Given the description of an element on the screen output the (x, y) to click on. 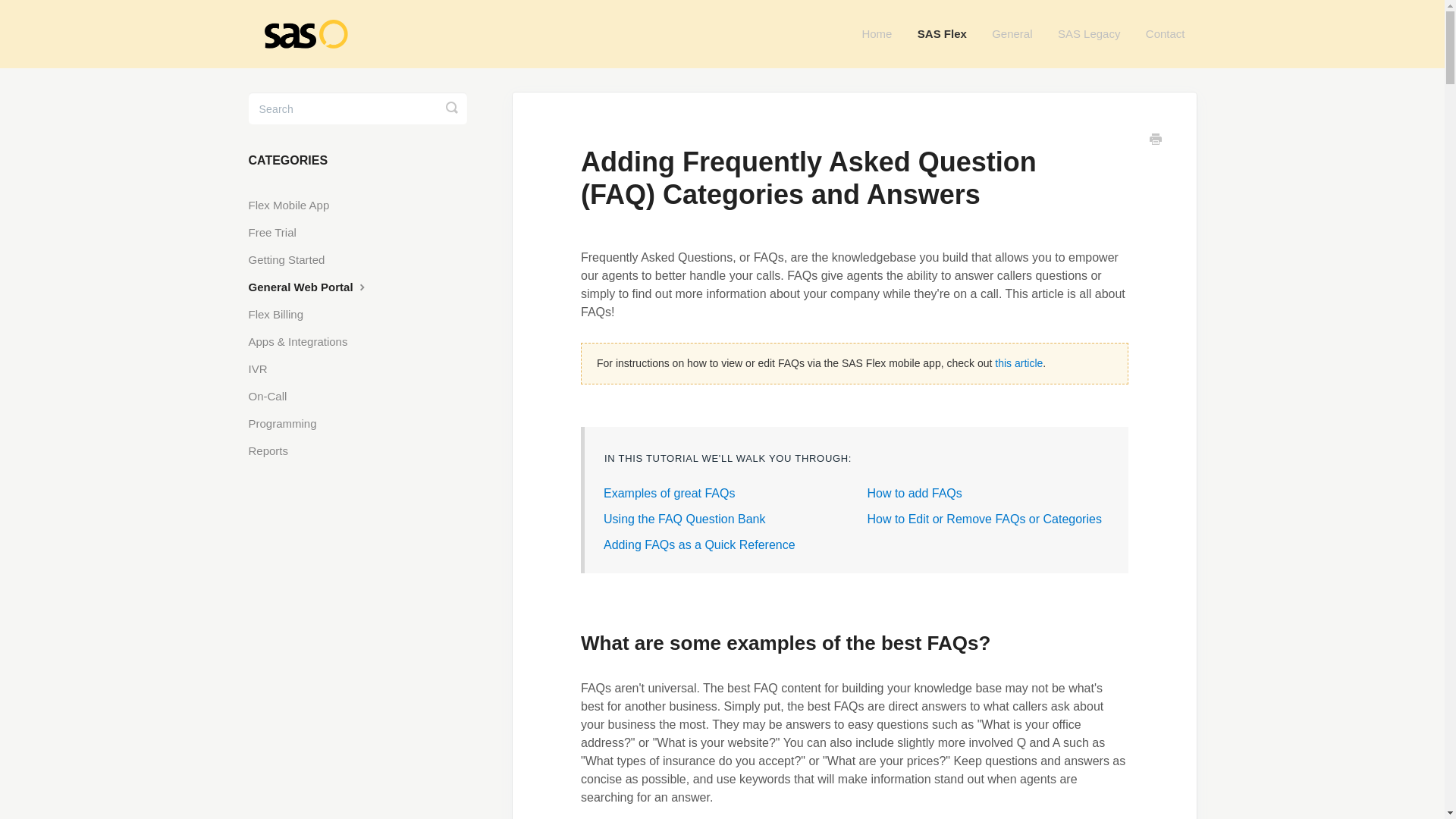
Using the FAQ Question Bank (684, 518)
General (1011, 33)
Free Trial (277, 229)
Contact (1165, 33)
General Web Portal (314, 283)
Adding FAQs as a Quick Reference (699, 544)
Examples of great FAQs (669, 492)
Flex Billing (281, 310)
search-query (357, 108)
Reports (273, 447)
